Given the description of an element on the screen output the (x, y) to click on. 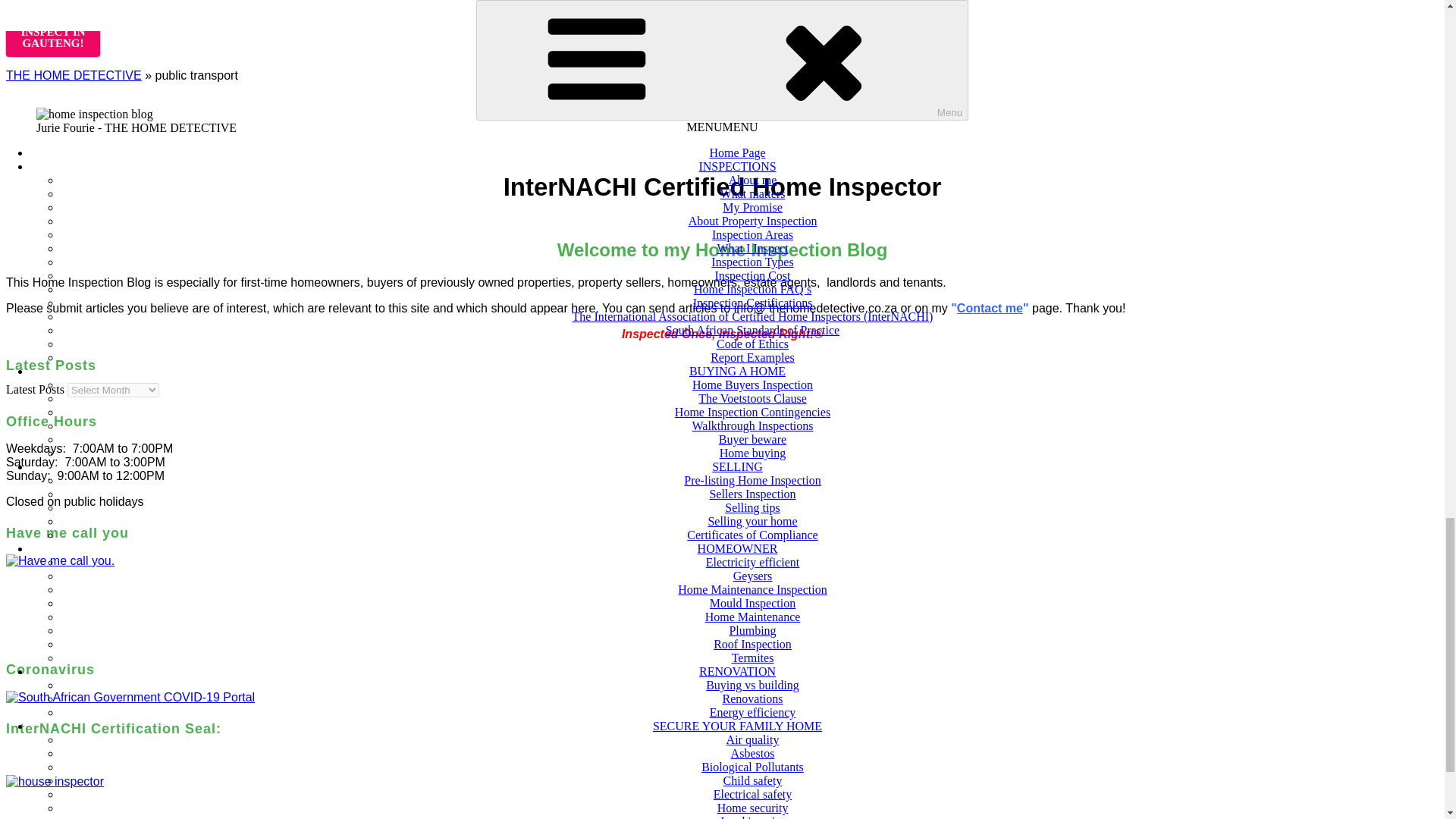
Inspection Areas (52, 31)
